Given the description of an element on the screen output the (x, y) to click on. 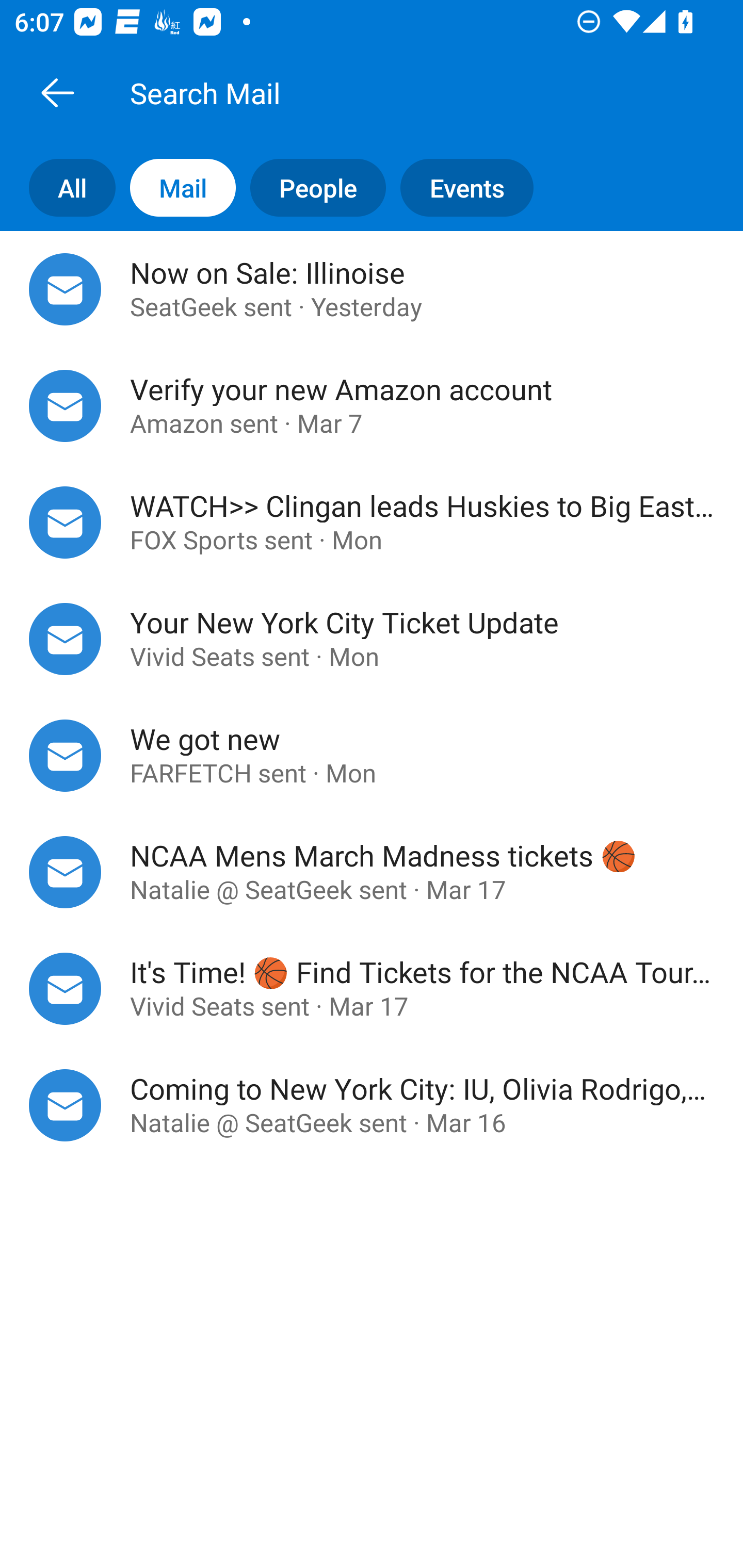
Back (57, 92)
Search Mail (394, 92)
All (57, 187)
People (310, 187)
Events (473, 187)
